Given the description of an element on the screen output the (x, y) to click on. 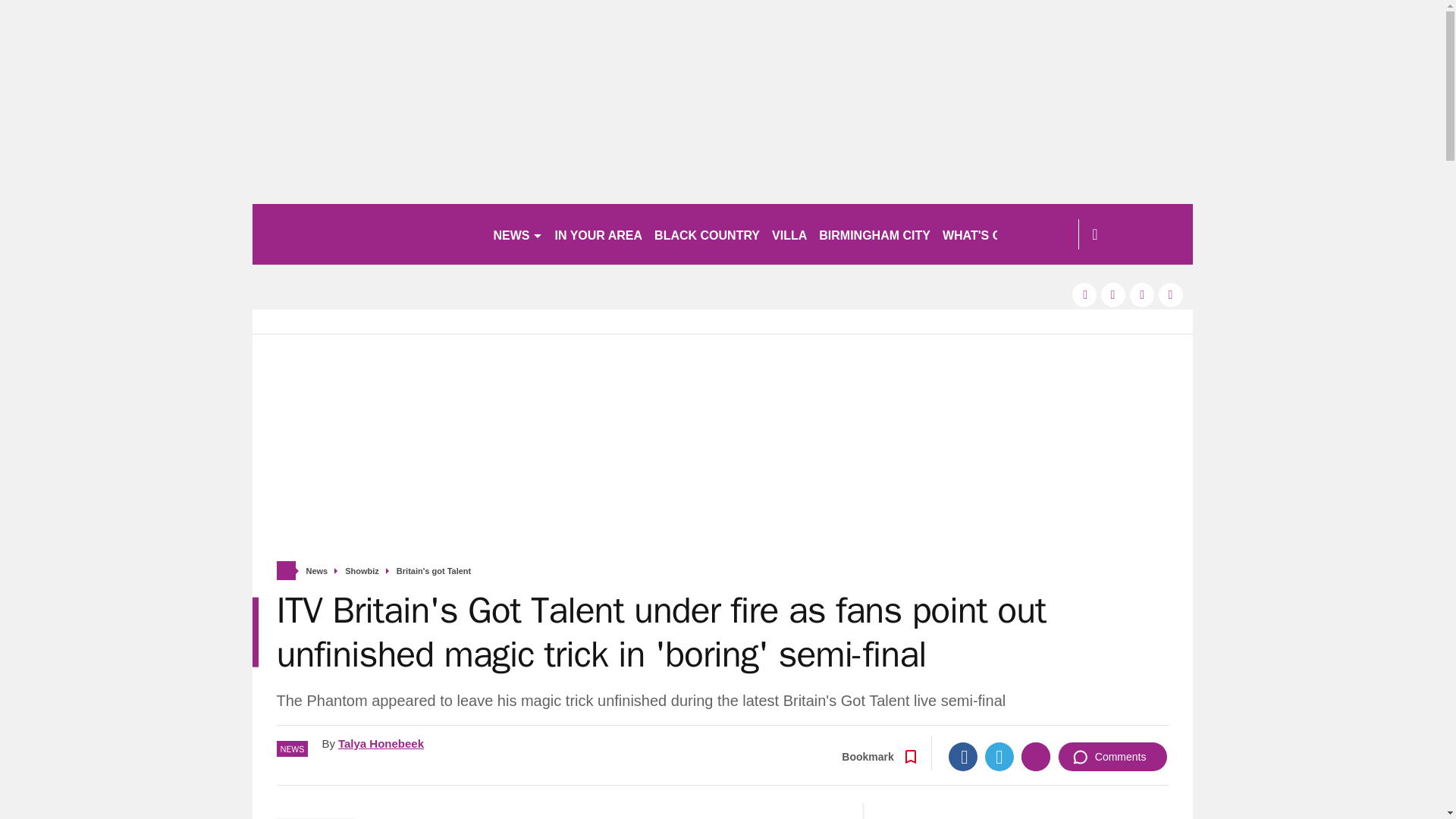
instagram (1170, 294)
IN YOUR AREA (598, 233)
BIRMINGHAM CITY (874, 233)
twitter (1112, 294)
Twitter (999, 756)
BLACK COUNTRY (706, 233)
Comments (1112, 756)
NEWS (517, 233)
tiktok (1141, 294)
facebook (1083, 294)
birminghammail (365, 233)
WHAT'S ON (982, 233)
Facebook (962, 756)
